Given the description of an element on the screen output the (x, y) to click on. 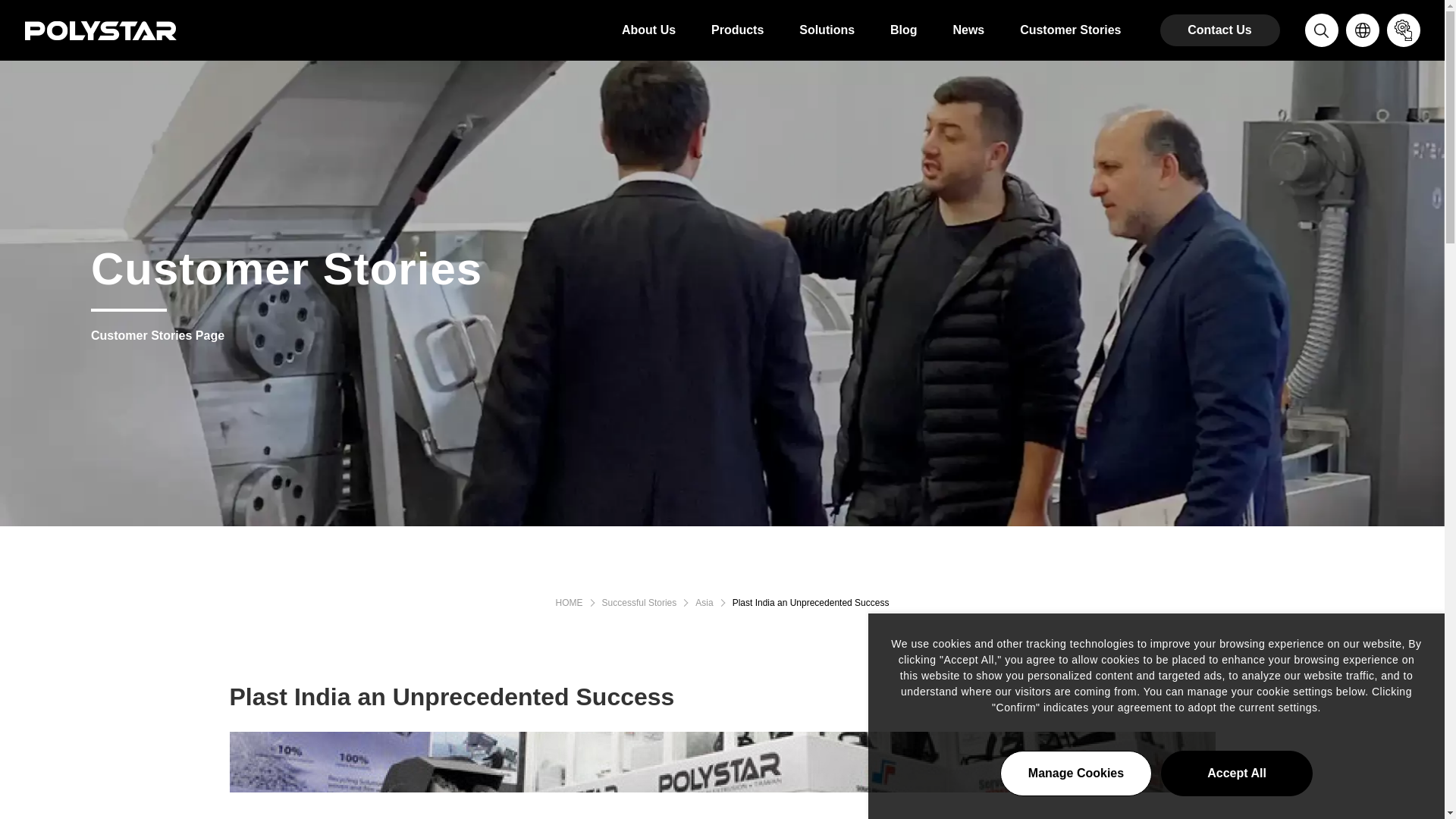
Solutions (826, 30)
Products (737, 30)
About Us (648, 30)
POLYSTAR Machinery (100, 29)
POLYSTAR Machinery (569, 602)
